Given the description of an element on the screen output the (x, y) to click on. 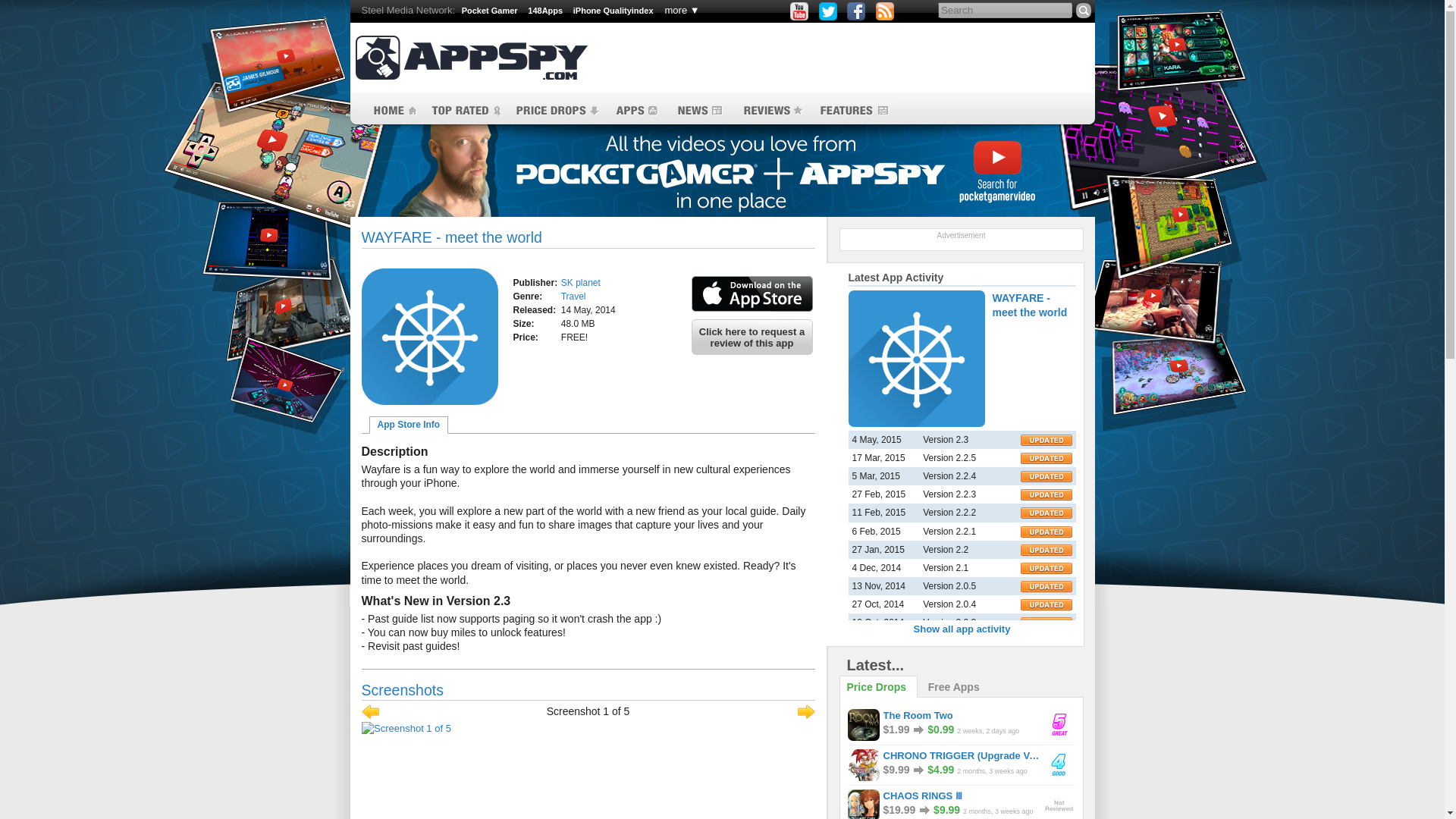
Features (853, 110)
Pocket Gamer (489, 10)
Top Rated Apps (464, 110)
Follow us on Twitter (827, 11)
148Apps (544, 10)
Available on the AppStore (751, 293)
Find us on Facebook (855, 11)
WAYFARE - meet the world (429, 336)
AppSpy Home (390, 110)
Visit our YouTube channel (799, 11)
Screenshot 1 of 5 (587, 728)
News and Updates (698, 110)
AppSpy - Track Apps and Save (470, 57)
